Given the description of an element on the screen output the (x, y) to click on. 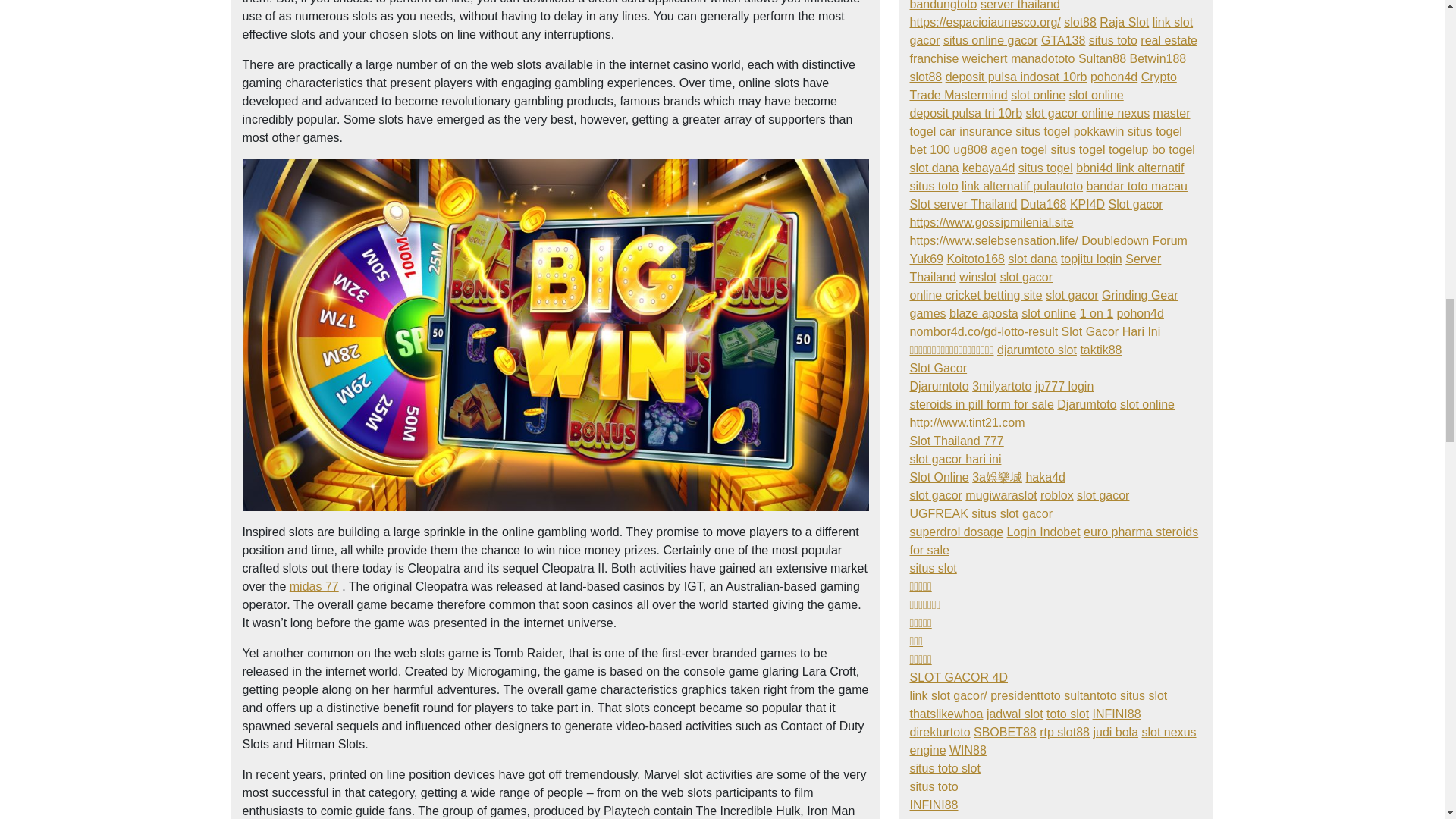
midas 77 (314, 585)
